Given the description of an element on the screen output the (x, y) to click on. 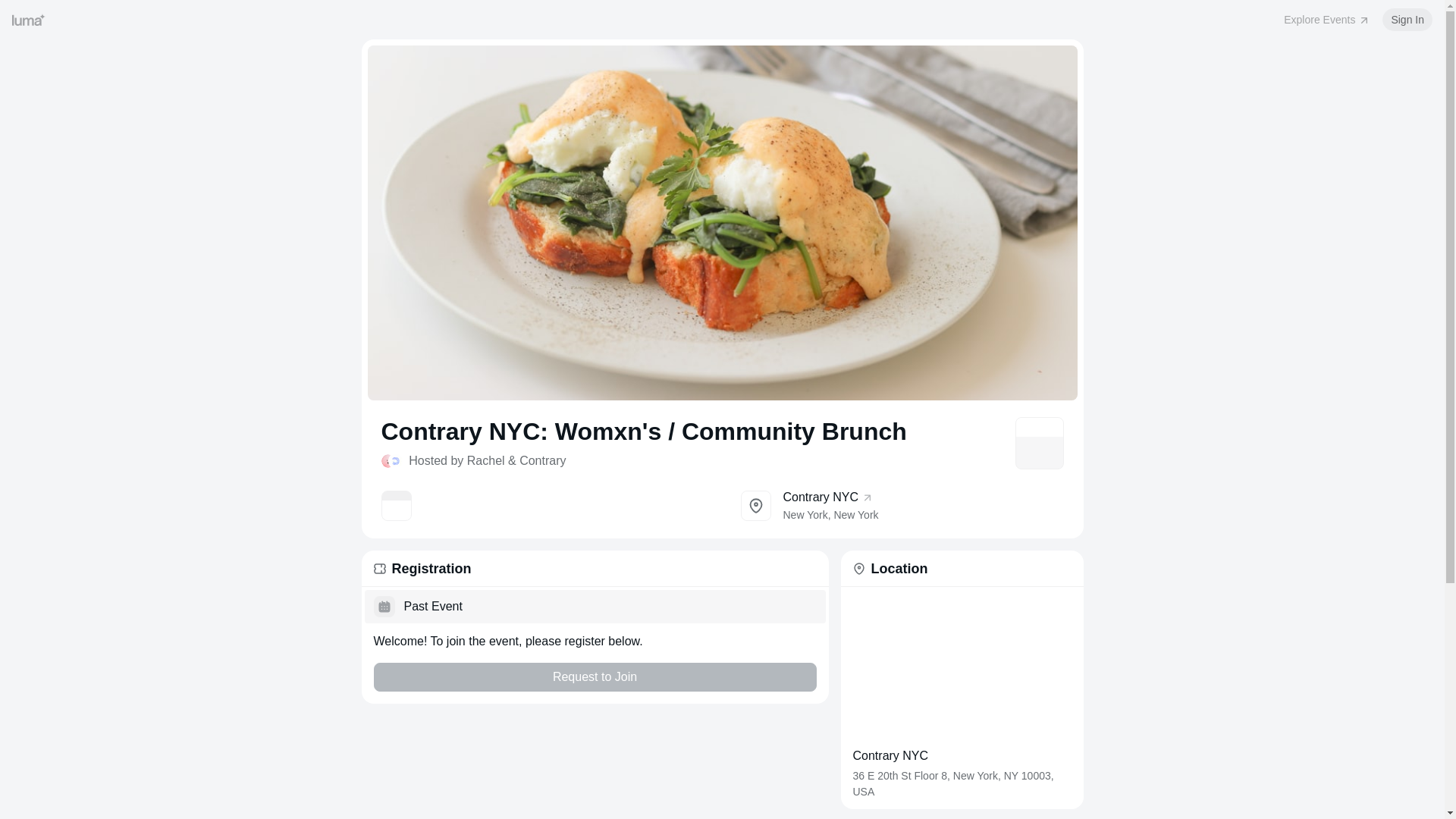
Request to Join (900, 505)
Sign In (593, 676)
Explore Events (1406, 19)
